Given the description of an element on the screen output the (x, y) to click on. 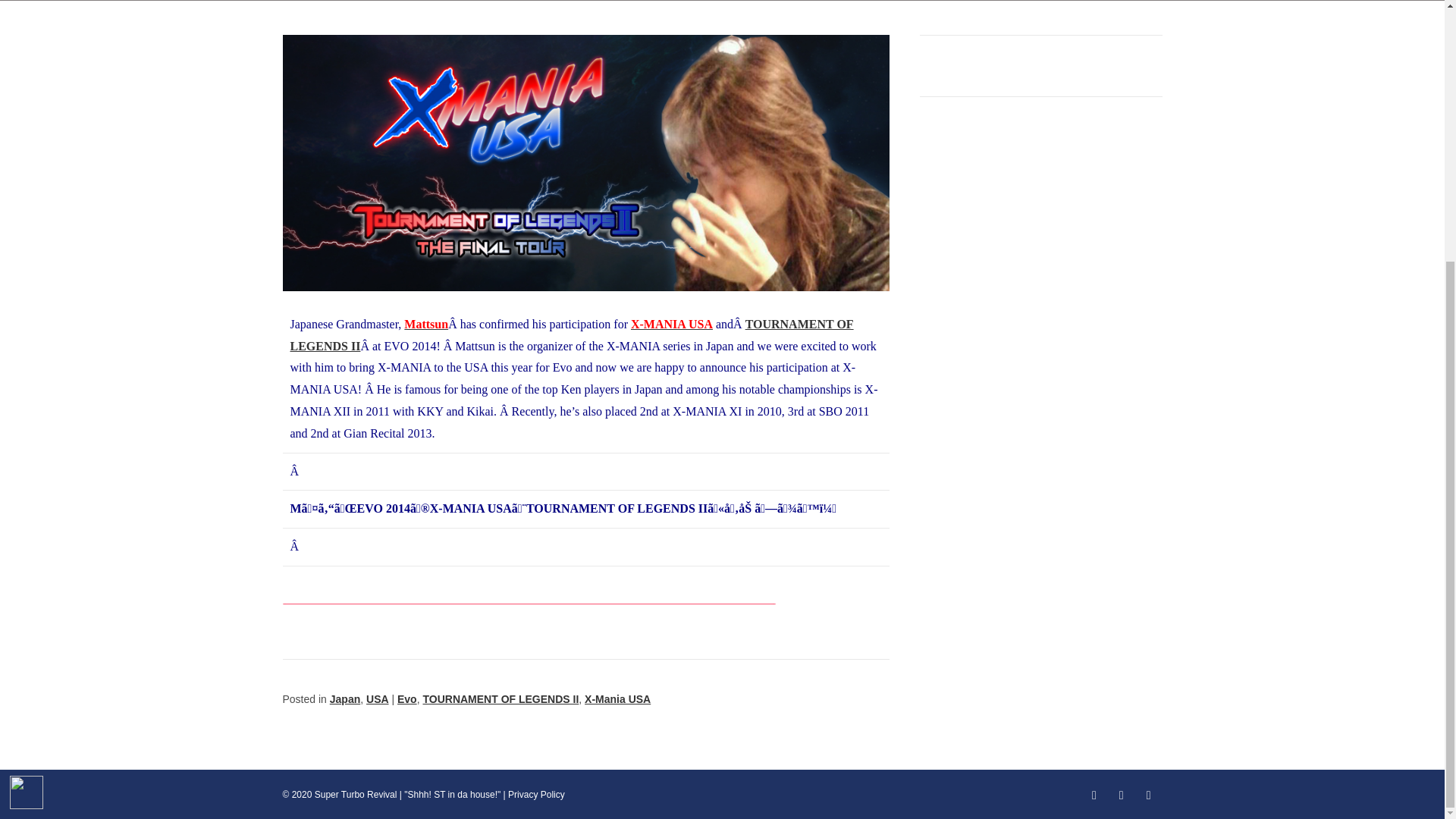
Accessibility Menu (26, 416)
